Given the description of an element on the screen output the (x, y) to click on. 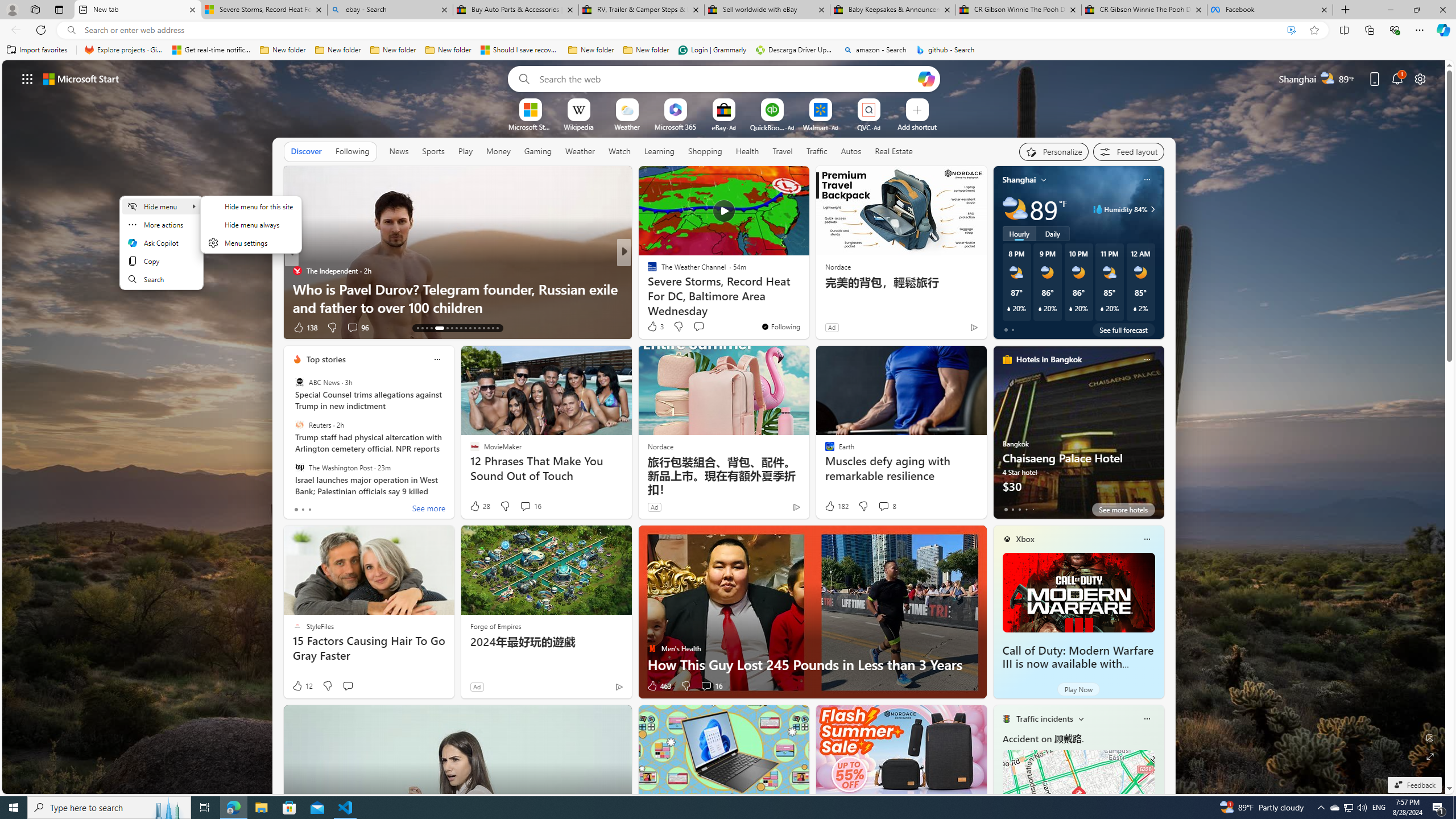
Health (746, 151)
View comments 8 Comment (887, 505)
Sports (432, 151)
View comments 167 Comment (703, 327)
Change scenarios (1080, 718)
github - Search (945, 49)
Mini menu on text selection (161, 249)
Feed settings (1128, 151)
AutomationID: tab-28 (492, 328)
Spotlight Feature (647, 270)
Chaisaeng Palace Hotel (1078, 436)
AutomationID: tab-26 (483, 328)
